Given the description of an element on the screen output the (x, y) to click on. 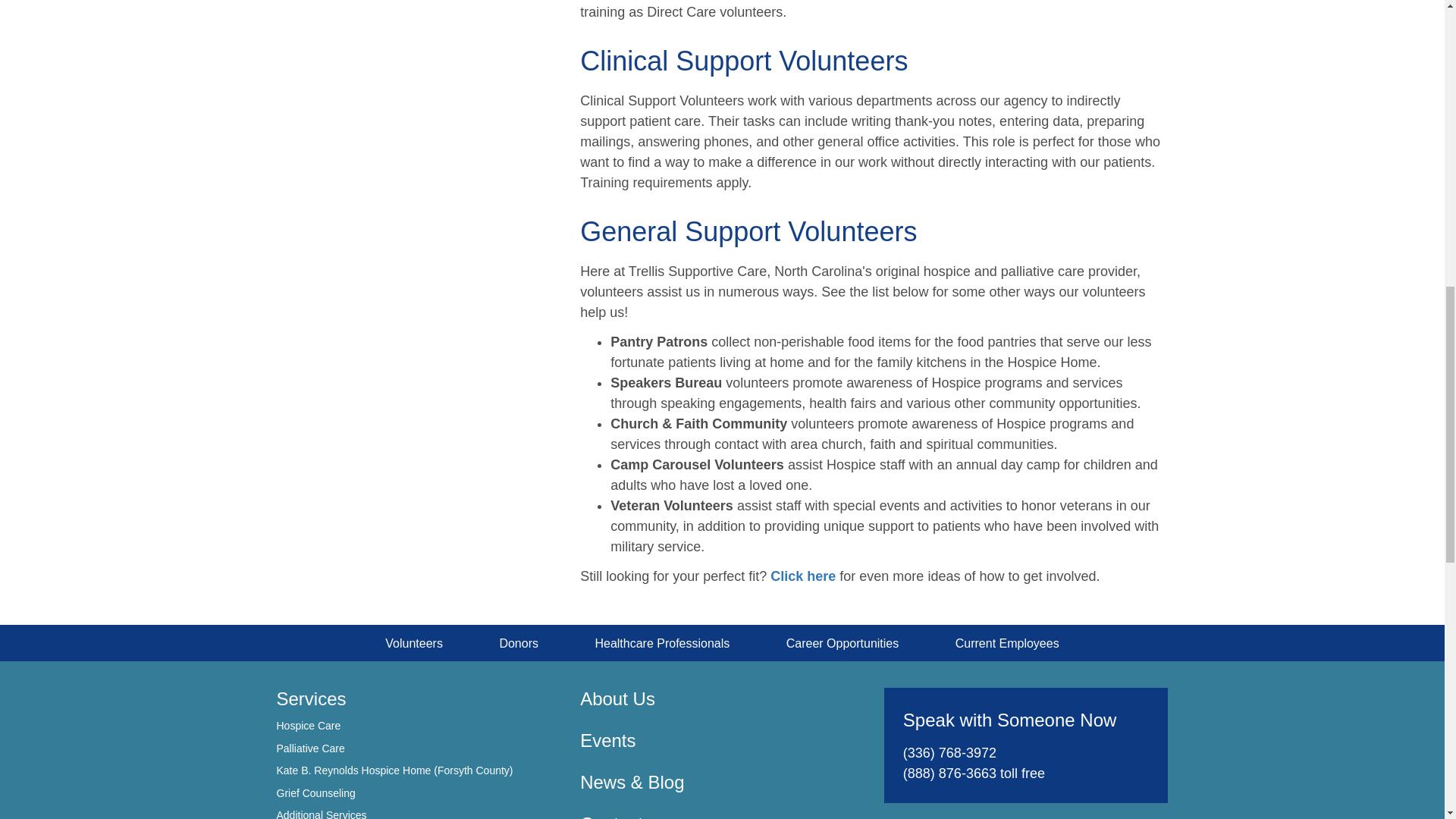
Hospice Care (308, 725)
Click here (802, 575)
Career Opportunities (842, 642)
Volunteers (413, 642)
Palliative Care (309, 747)
Current Employees (1007, 642)
Donors (518, 642)
Services (311, 698)
Healthcare Professionals (661, 642)
